Given the description of an element on the screen output the (x, y) to click on. 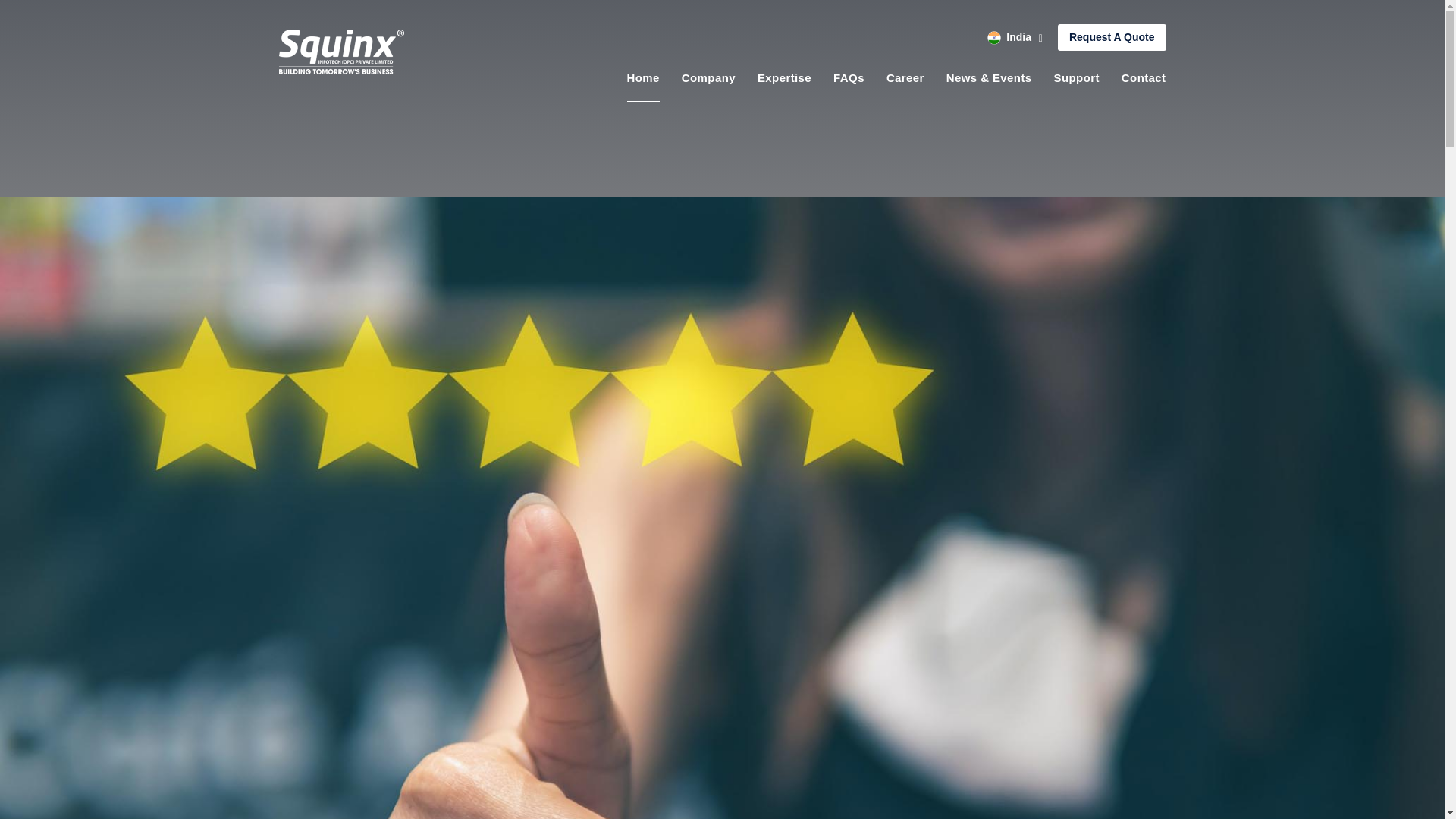
Expertise (783, 77)
  India (1014, 37)
Company (708, 77)
Contact (1143, 77)
Support (1076, 77)
Request A Quote (1112, 37)
